Given the description of an element on the screen output the (x, y) to click on. 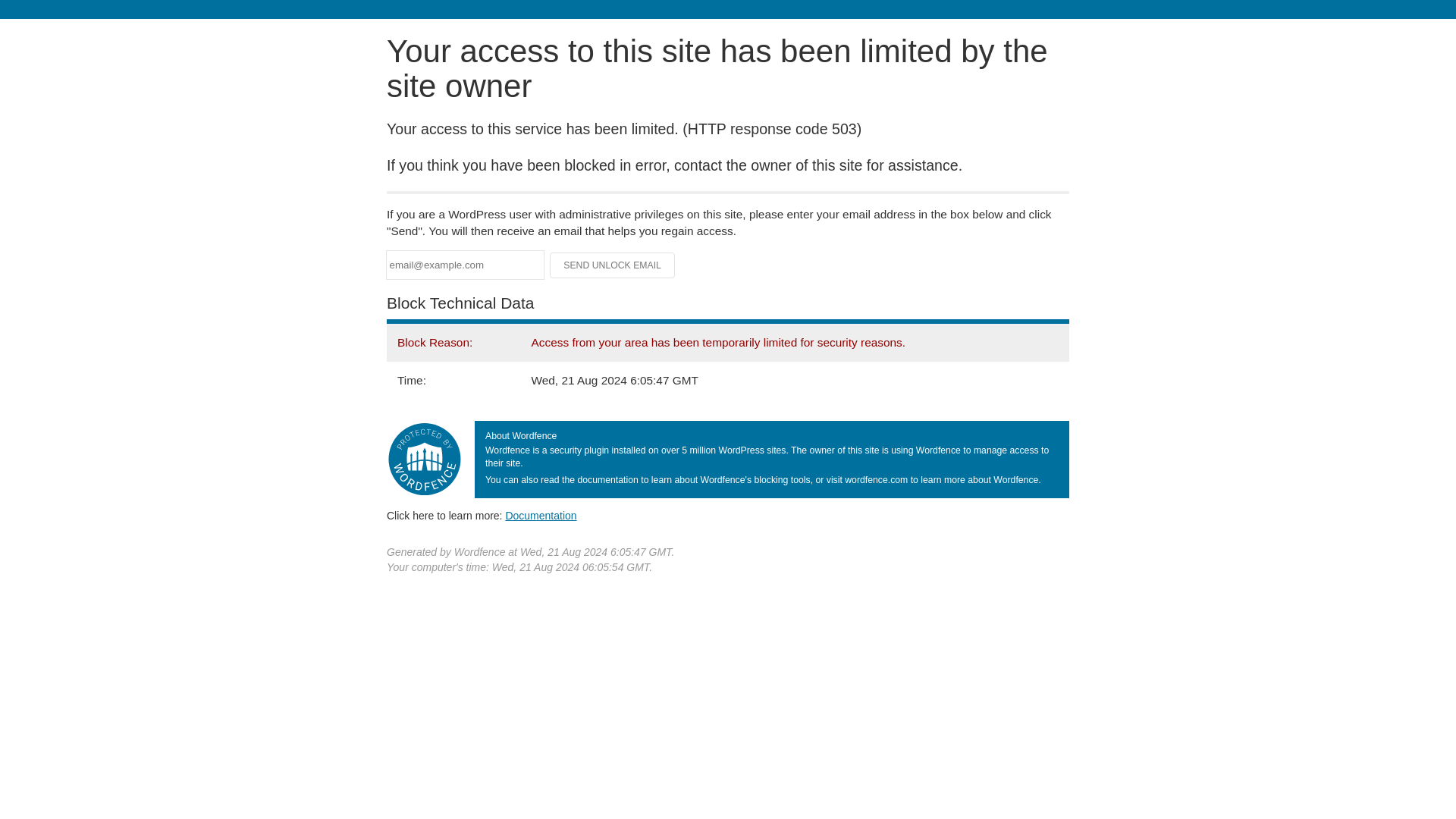
Send Unlock Email (612, 265)
Documentation (540, 515)
Send Unlock Email (612, 265)
